Given the description of an element on the screen output the (x, y) to click on. 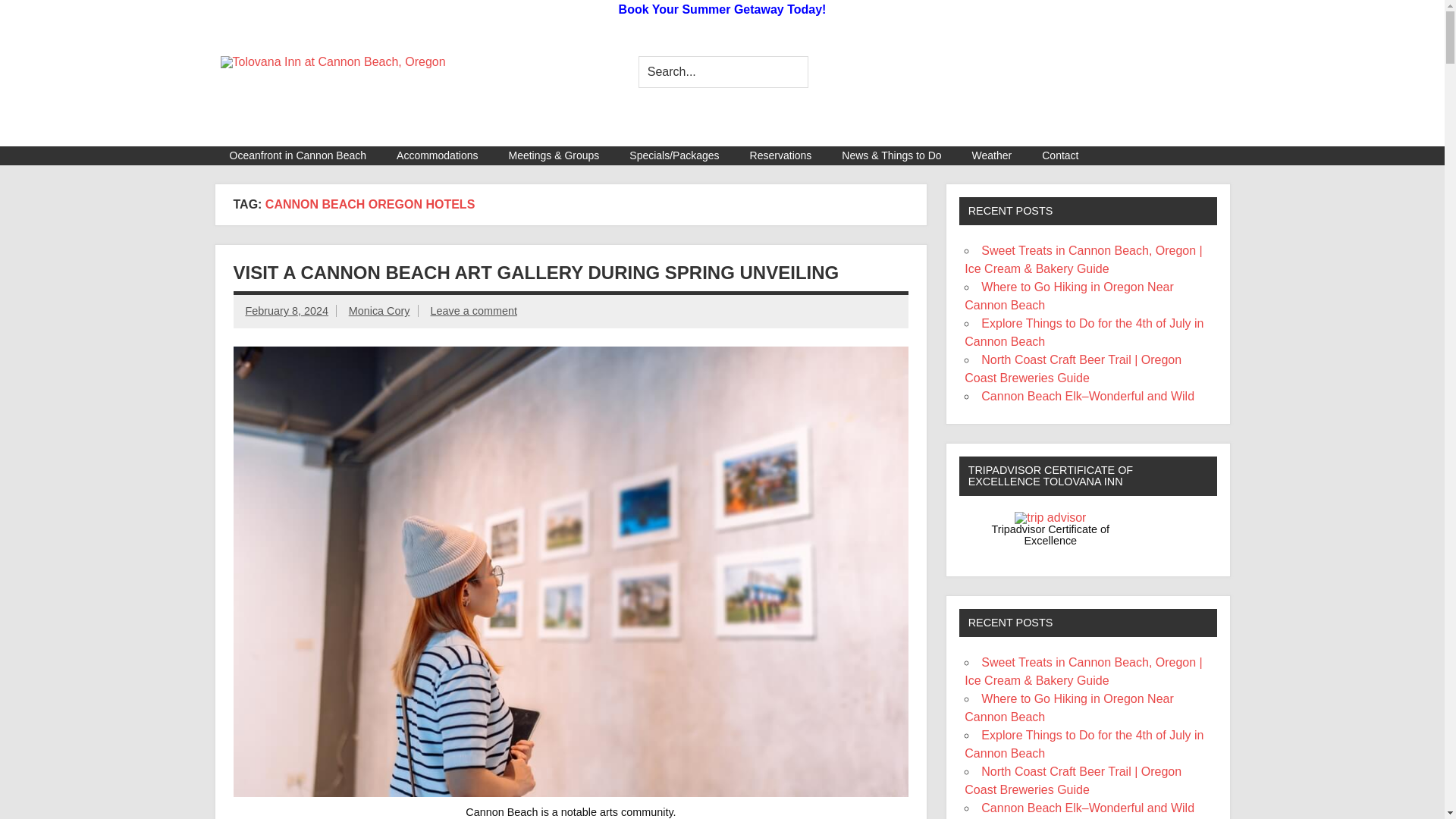
9:40 am (287, 310)
BOOK (861, 79)
Search... (723, 71)
Monica Cory (379, 310)
Reservations (781, 155)
Search... (723, 71)
February 8, 2024 (287, 310)
Leave a comment (473, 310)
1-503-436-2211 (682, 97)
Book Your Summer Getaway Today! (722, 9)
Accommodations (437, 155)
View all posts by Monica Cory (379, 310)
Oceanfront in Cannon Beach (297, 155)
Contact (1059, 155)
Weather (991, 155)
